Given the description of an element on the screen output the (x, y) to click on. 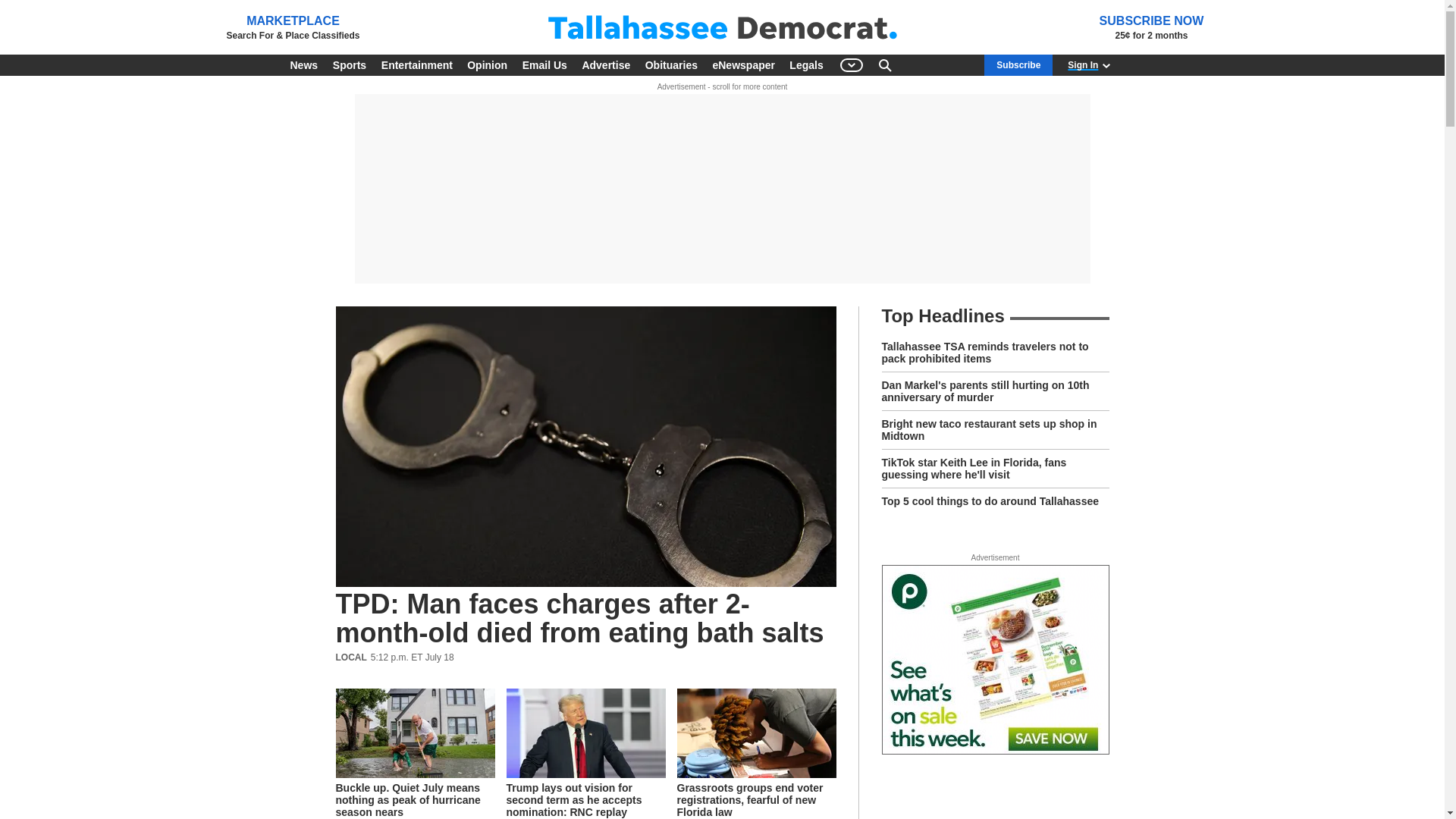
Search (885, 65)
Opinion (486, 65)
Obituaries (670, 65)
eNewspaper (742, 65)
Email Us (545, 65)
News (303, 65)
Sports (349, 65)
Entertainment (417, 65)
Advertise (605, 65)
Legals (805, 65)
